Given the description of an element on the screen output the (x, y) to click on. 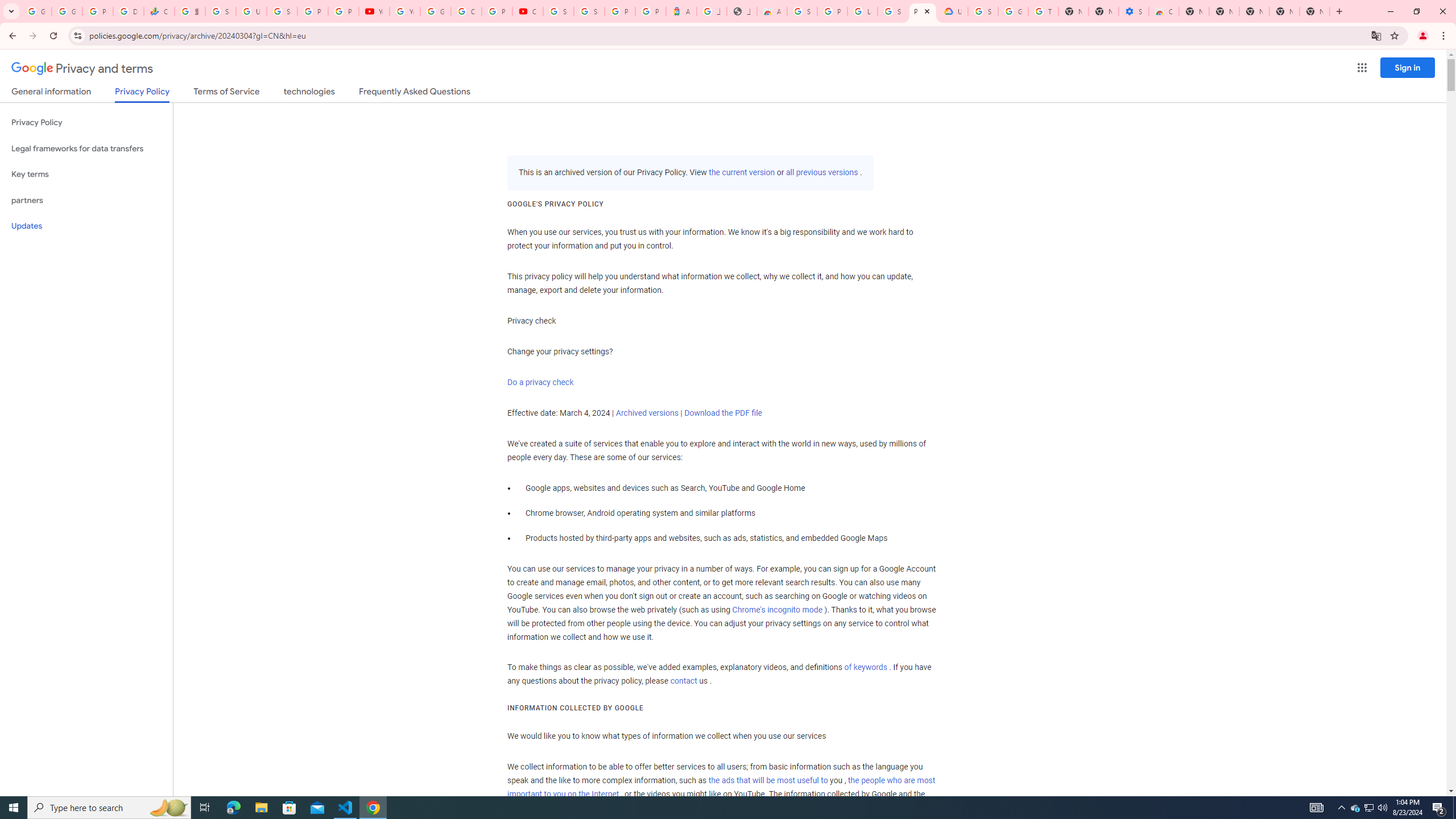
Archived versions (646, 412)
of keywords (865, 667)
Chrome Web Store - Accessibility extensions (1163, 11)
Frequently Asked Questions (414, 93)
Sign in - Google Accounts (801, 11)
Privacy and terms (81, 68)
